Given the description of an element on the screen output the (x, y) to click on. 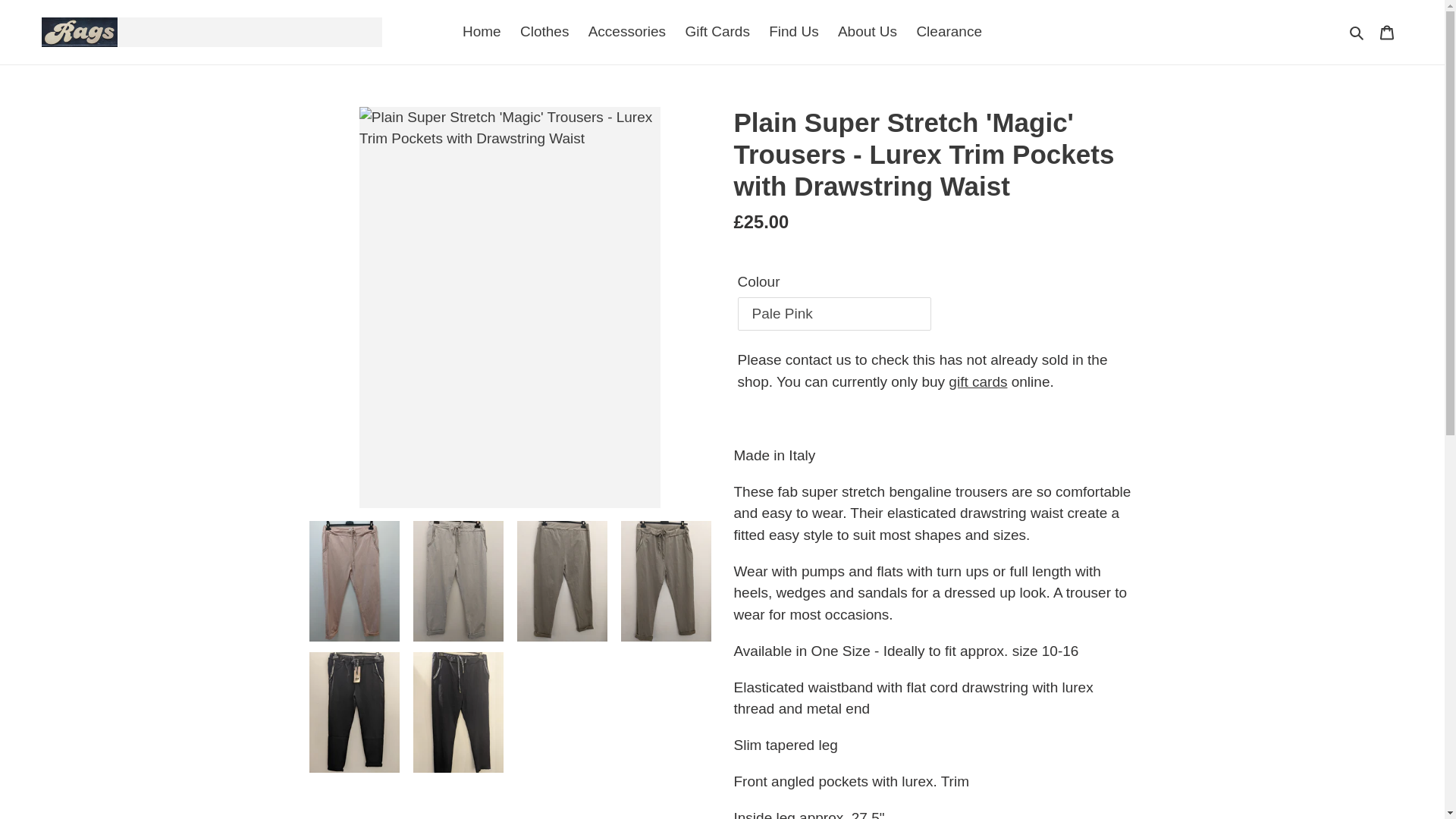
Clothes (544, 31)
Search (1357, 32)
Gift Cards (717, 31)
About Us (866, 31)
Accessories (626, 31)
Find Us (793, 31)
Home (481, 31)
gift cards (978, 381)
Clearance (949, 31)
